Given the description of an element on the screen output the (x, y) to click on. 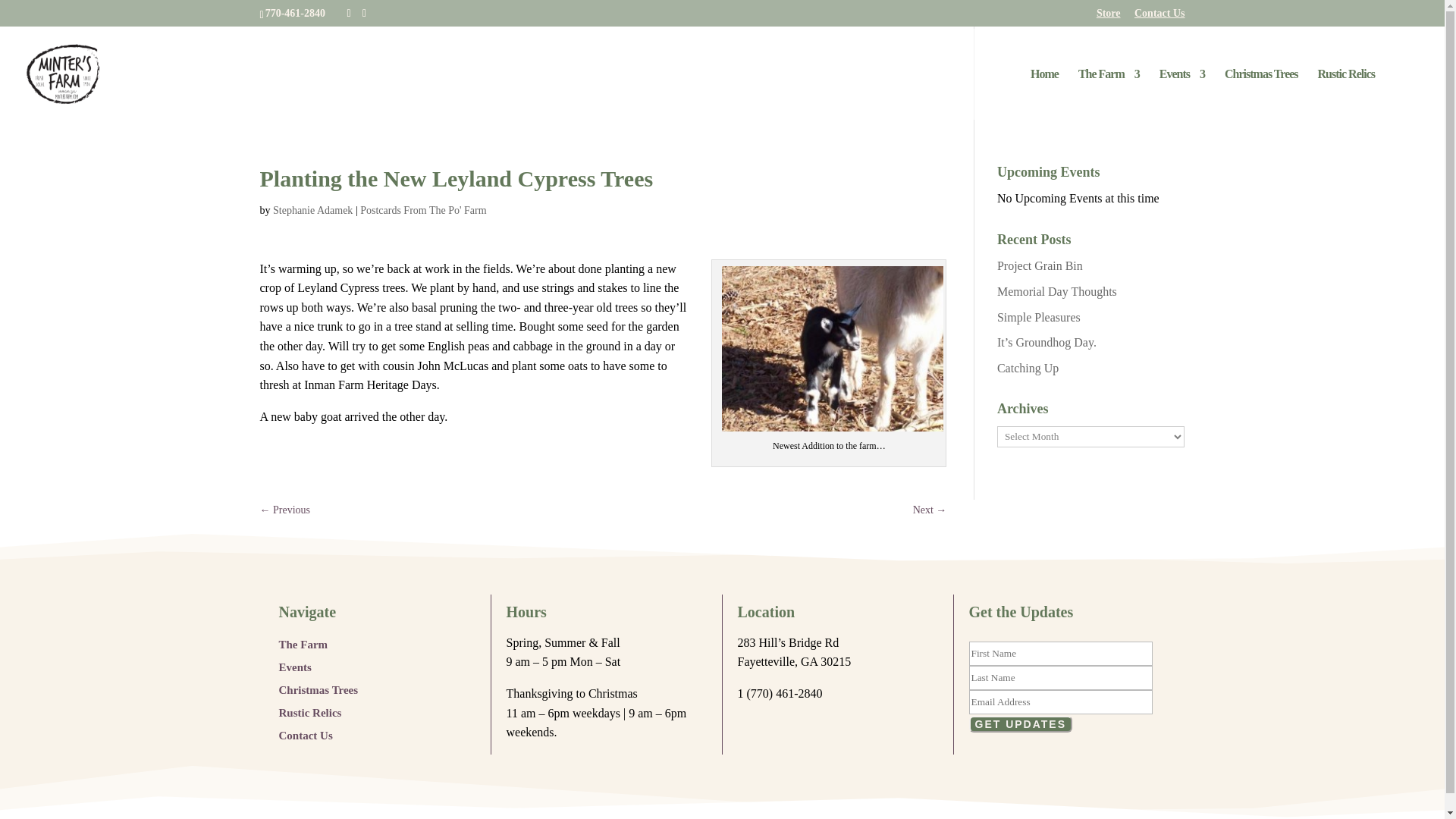
Contact Us (1159, 16)
Newest Addition (832, 348)
Postcards From The Po' Farm (422, 210)
Christmas Trees (1261, 93)
Rustic Relics (310, 709)
Events (1181, 93)
Events (295, 664)
Simple Pleasures (1038, 317)
Contact Us (306, 732)
The Farm (304, 641)
Posts by Stephanie Adamek (312, 210)
Project Grain Bin (1040, 265)
Store (1108, 16)
Contact Us (1159, 16)
Trees (1261, 93)
